Given the description of an element on the screen output the (x, y) to click on. 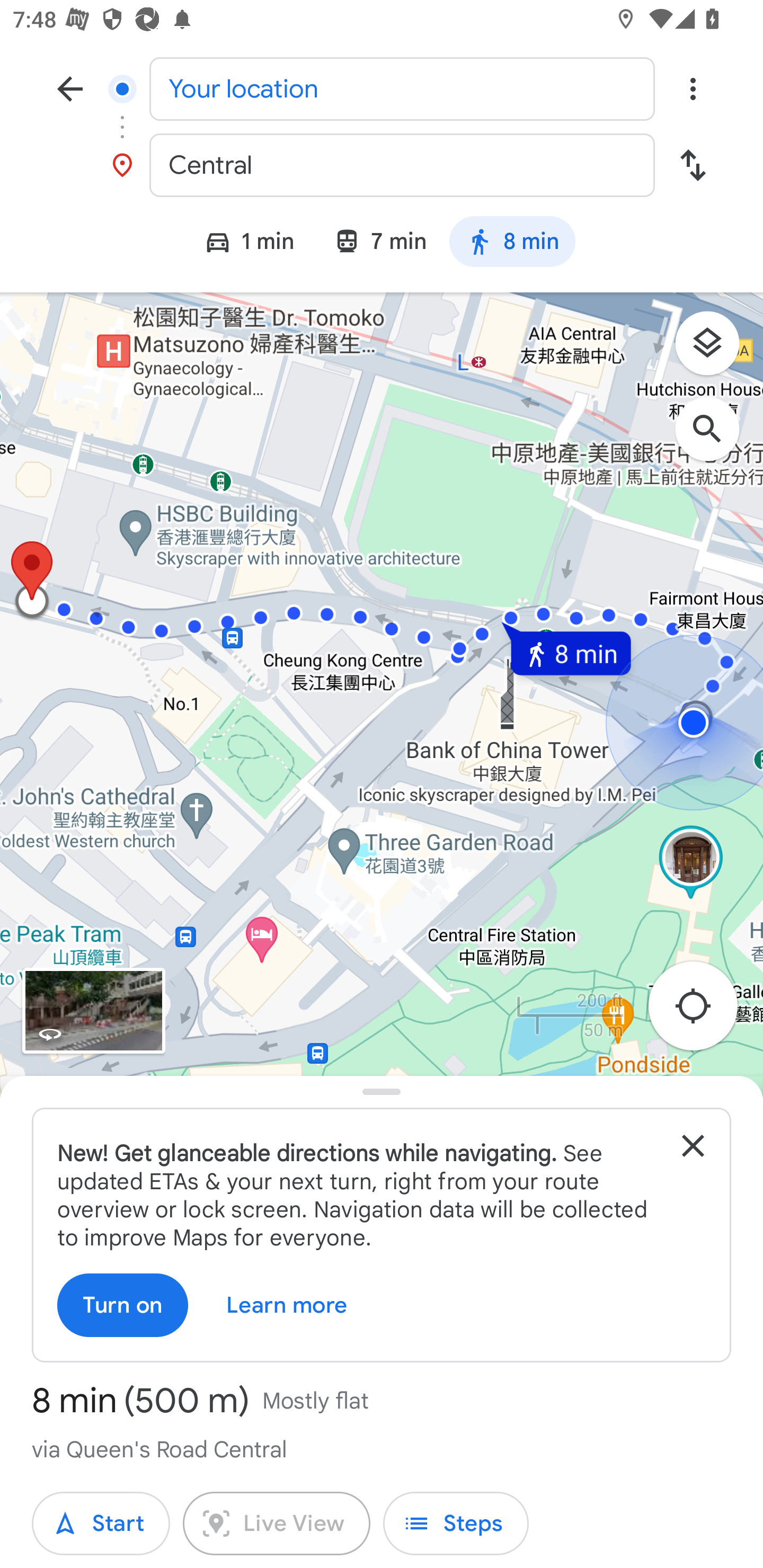
Navigate up (70, 88)
Your location Start location, Your location (381, 88)
Overflow menu (692, 88)
Central Destination, Central (381, 165)
Swap start and destination (692, 165)
Driving mode: 1 min 1 min (240, 244)
Transit mode: 7 min 7 min (379, 244)
Layers (716, 349)
Search along route (716, 438)
Re-center map to your location (702, 1010)
Close (692, 1145)
Turn on Turn on Turn on (122, 1304)
Learn more Learn more Learn more (286, 1304)
Live View Live View Live View (276, 1522)
Steps Steps Steps (455, 1522)
